Given the description of an element on the screen output the (x, y) to click on. 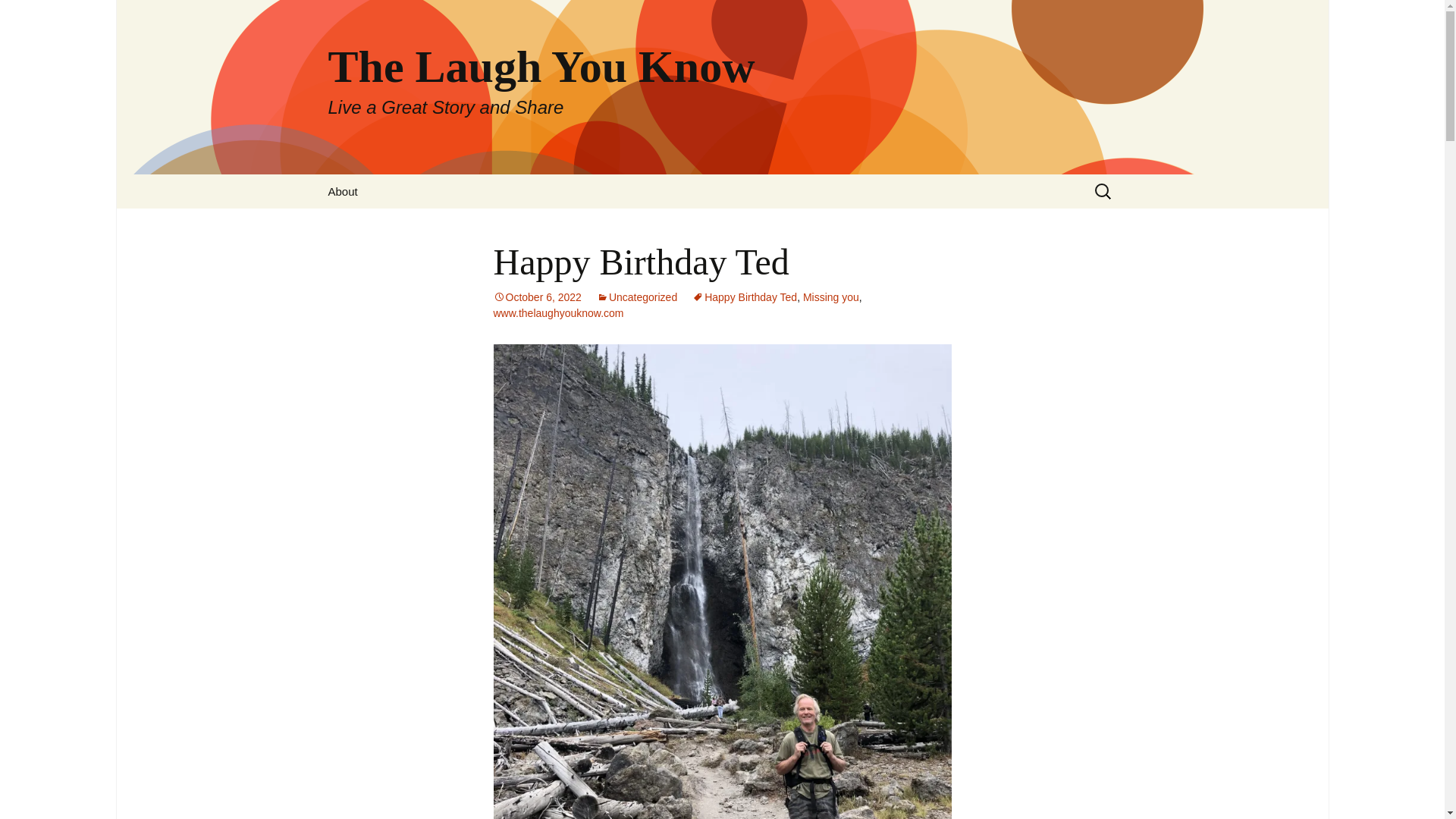
Missing you (558, 313)
Search (831, 297)
Happy Birthday Ted (34, 15)
Uncategorized (744, 297)
Skip to content (636, 297)
October 6, 2022 (18, 15)
About (536, 297)
Permalink to Happy Birthday Ted (342, 191)
The Laugh You Know (536, 297)
